Given the description of an element on the screen output the (x, y) to click on. 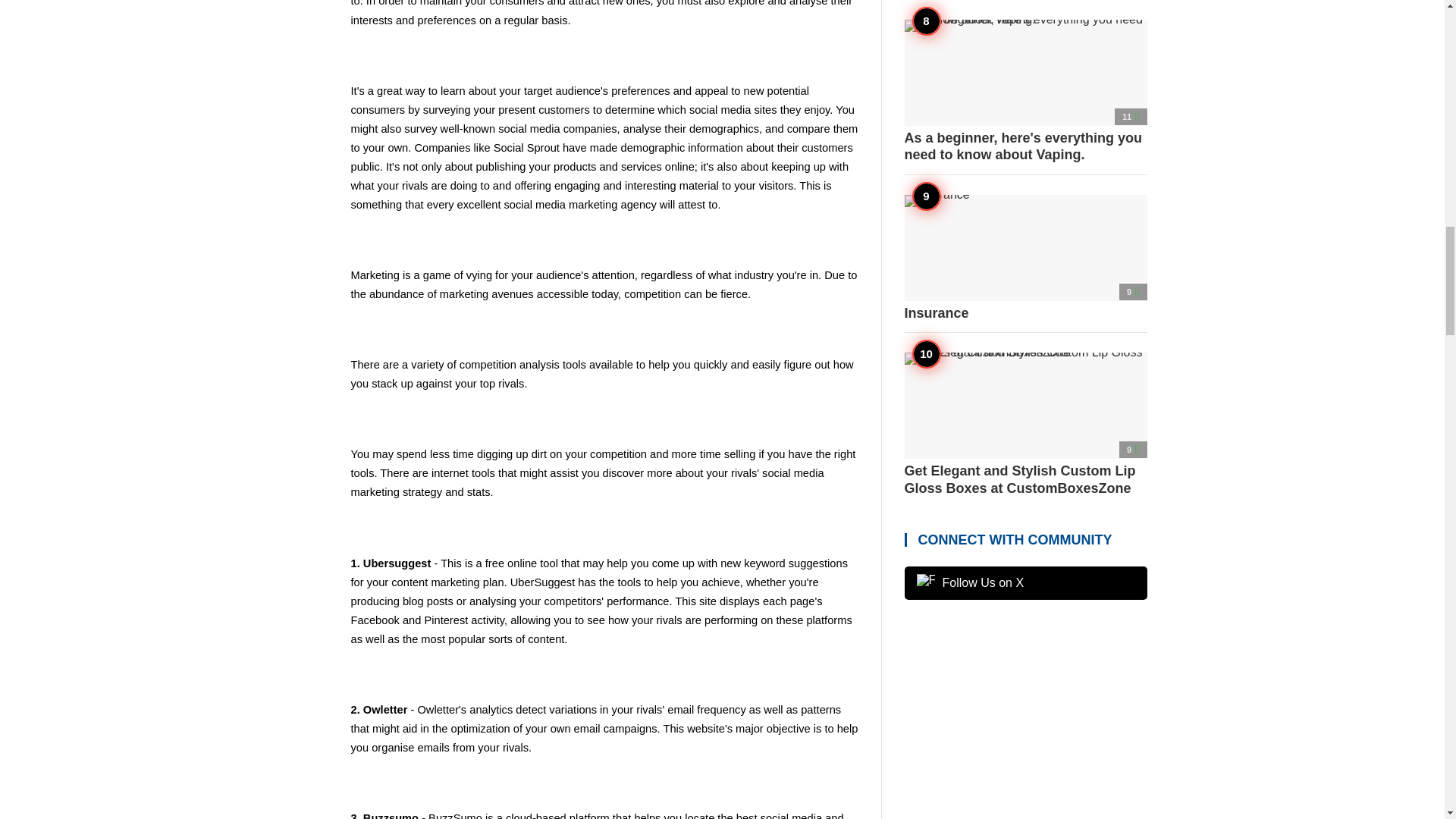
Insurance (1025, 257)
